Given the description of an element on the screen output the (x, y) to click on. 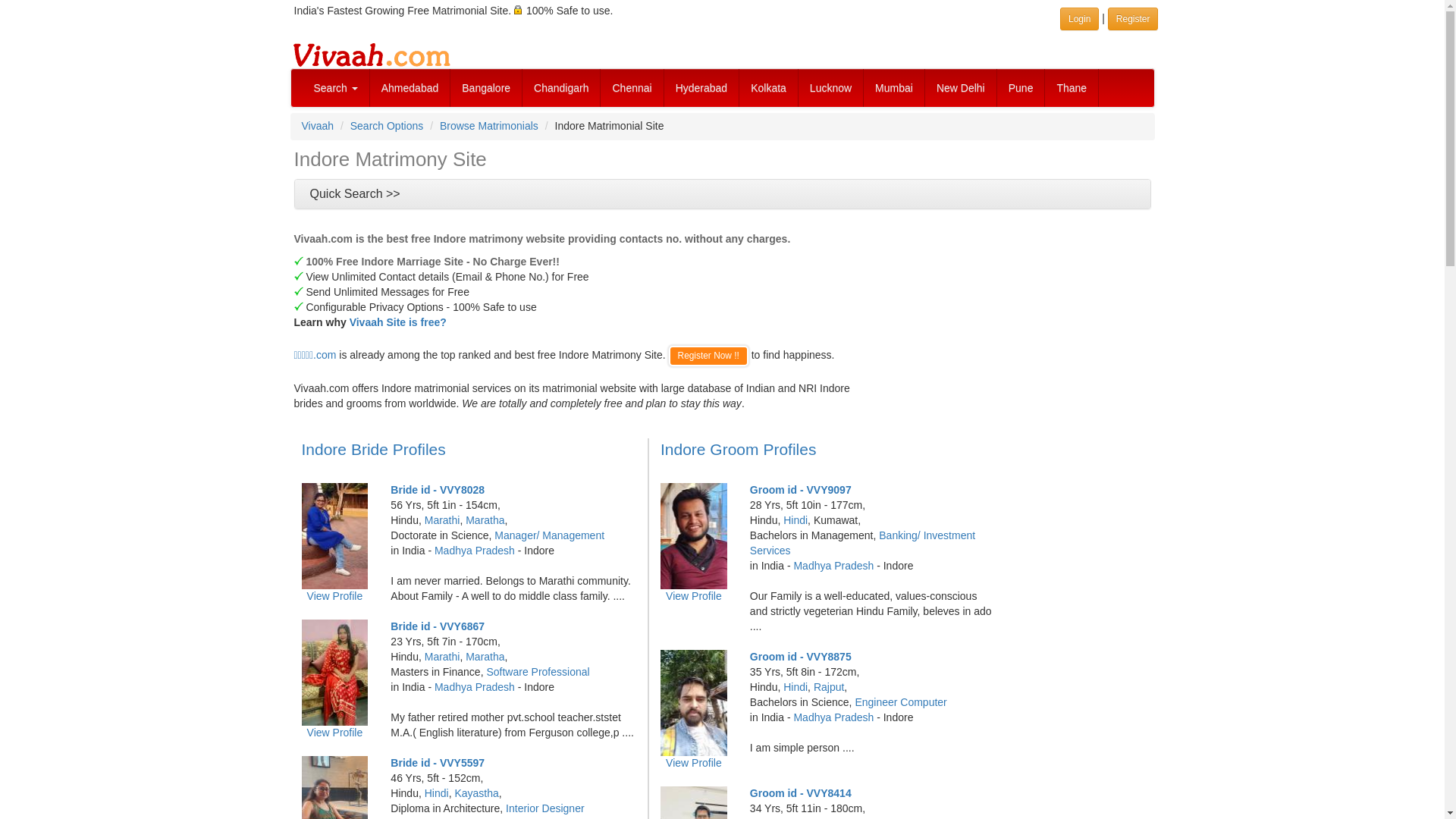
Login (1079, 18)
Vivaah Site is free? (397, 322)
Advertisement (975, 322)
Chandigarh (560, 87)
Kolkata (768, 87)
Pune (1021, 87)
Thane (1072, 87)
Hyderabad (701, 87)
Chennai (631, 87)
Search Options (386, 125)
Search (335, 87)
Ahmedabad (410, 87)
Vivaah (317, 125)
Register (1133, 18)
Lucknow (830, 87)
